Given the description of an element on the screen output the (x, y) to click on. 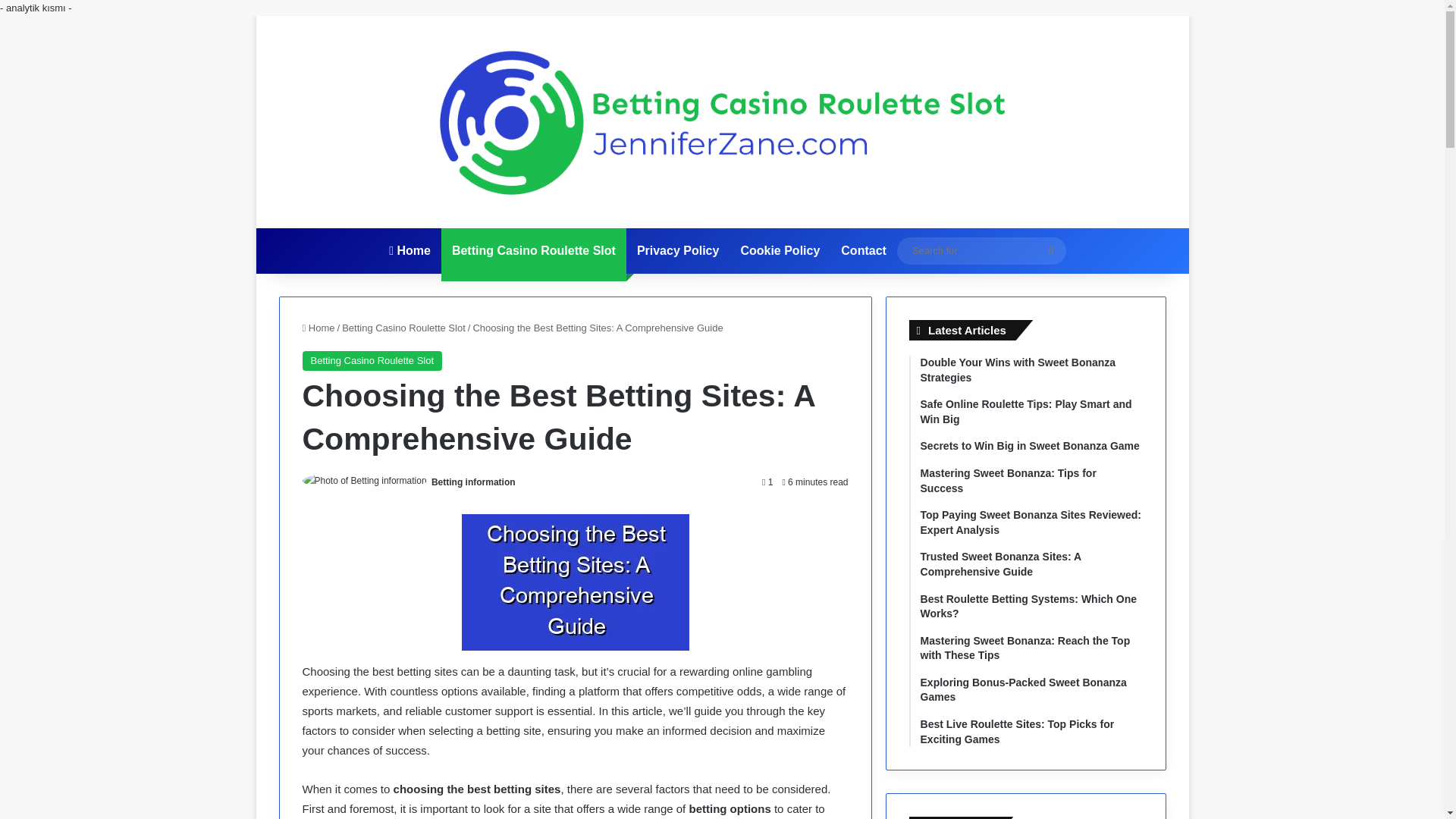
Betting Casino Roulette Slot (533, 250)
Betting information (472, 481)
Home (409, 250)
Home (317, 327)
Search for (980, 250)
Betting Casino Roulette Slot (403, 327)
Cookie Policy (779, 250)
Search for (1050, 250)
Privacy Policy (678, 250)
Betting Casino Roulette Slot (371, 361)
Choosing the Best Betting Sites: A Comprehensive Guide (574, 582)
Betting information (472, 481)
Contact (862, 250)
